Given the description of an element on the screen output the (x, y) to click on. 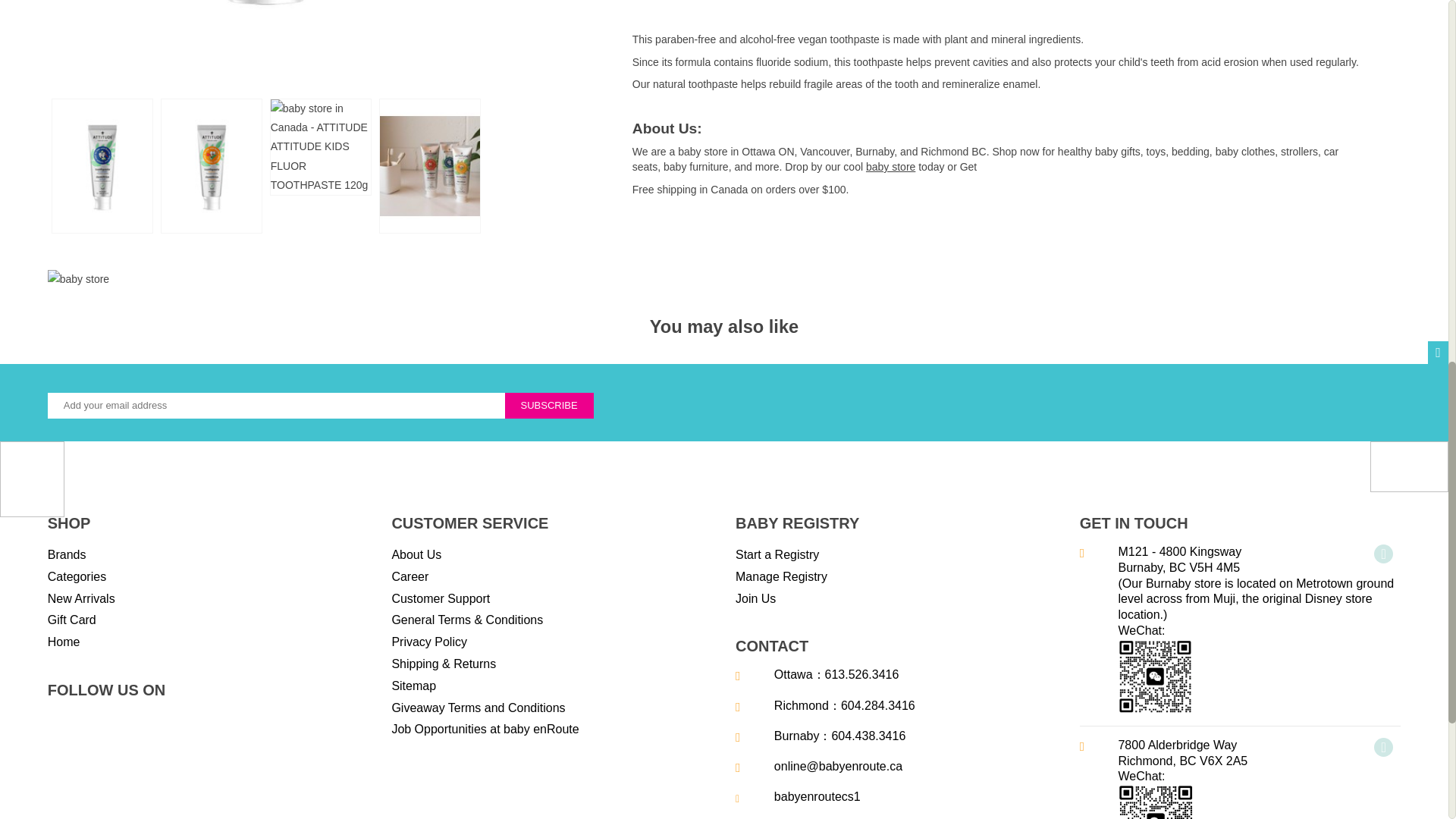
New Arrivals (81, 599)
Brands (66, 555)
Categories (77, 577)
baby store in Canada (890, 167)
